Given the description of an element on the screen output the (x, y) to click on. 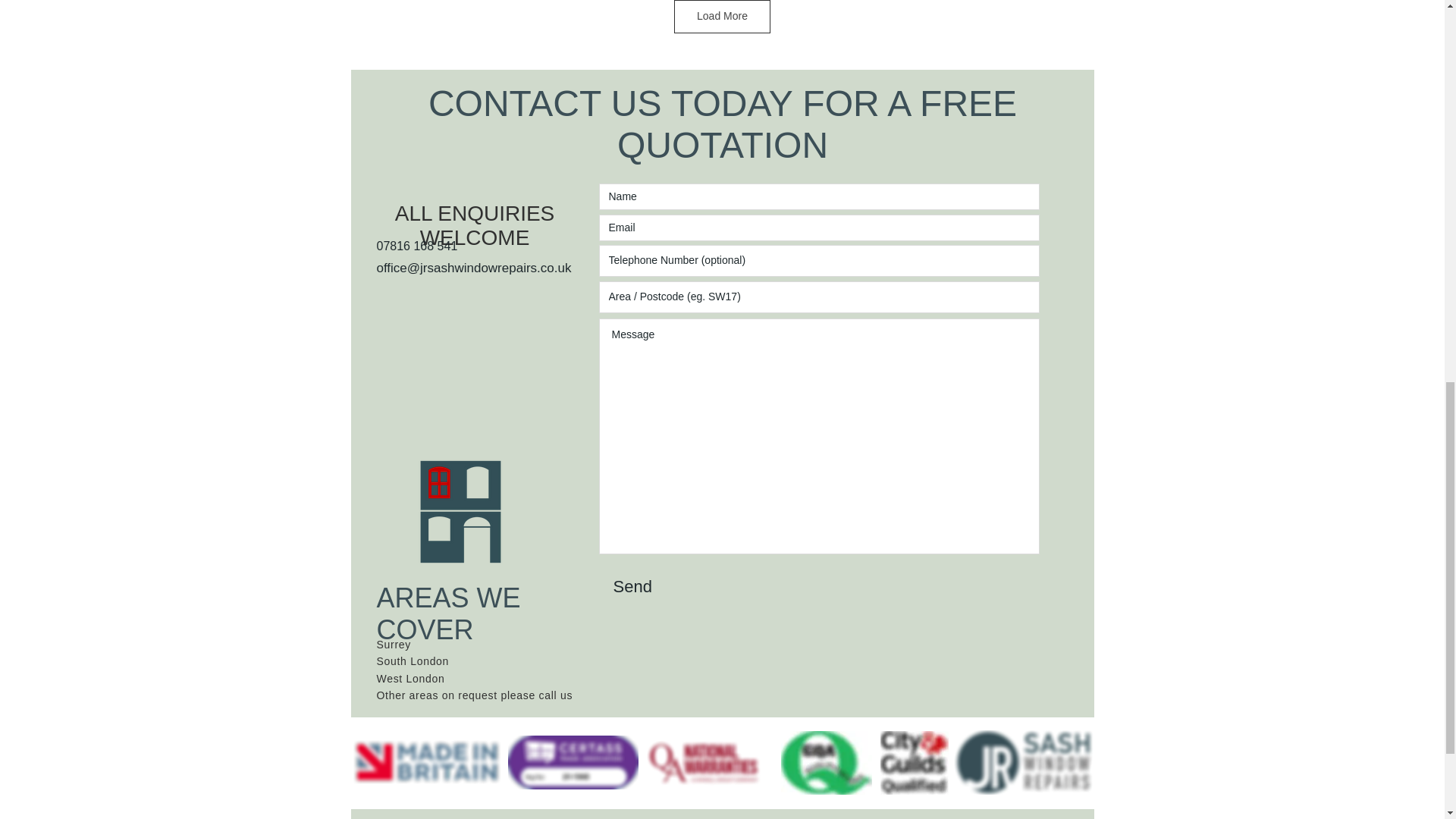
07816 168 541 (416, 245)
Load More (722, 16)
Send (637, 586)
